Given the description of an element on the screen output the (x, y) to click on. 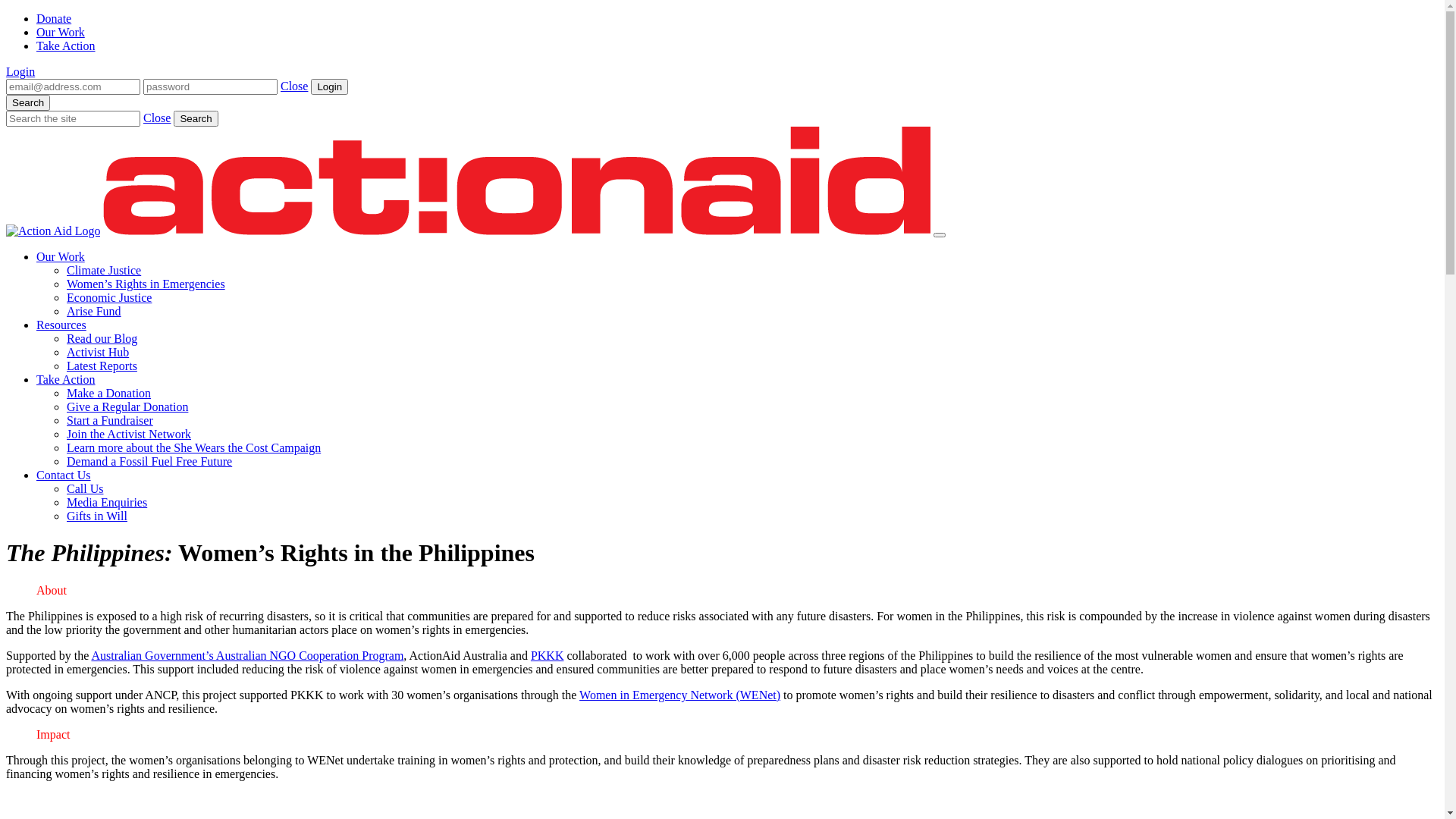
Activist Hub Element type: text (97, 351)
Login Element type: text (20, 71)
Donate Element type: text (53, 18)
Take Action Element type: text (65, 379)
Give a Regular Donation Element type: text (127, 406)
Call Us Element type: text (84, 488)
Women in Emergency Network (WENet) Element type: text (679, 694)
Make a Donation Element type: text (108, 392)
Learn more about the She Wears the Cost Campaign Element type: text (193, 447)
Search Element type: text (28, 102)
Our Work Element type: text (60, 256)
Demand a Fossil Fuel Free Future Element type: text (149, 461)
Arise Fund Element type: text (93, 310)
Close Element type: text (156, 117)
Start a Fundraiser Element type: text (109, 420)
Contact Us Element type: text (63, 474)
Media Enquiries Element type: text (106, 501)
Latest Reports Element type: text (101, 365)
Login Element type: text (329, 86)
Join the Activist Network Element type: text (128, 433)
Close Element type: text (293, 85)
Resources Element type: text (61, 324)
Take Action Element type: text (65, 45)
Economic Justice Element type: text (108, 297)
PKKK Element type: text (547, 655)
Search Element type: text (195, 118)
Read our Blog Element type: text (101, 338)
Our Work Element type: text (60, 31)
Climate Justice Element type: text (103, 269)
Gifts in Will Element type: text (96, 515)
